Given the description of an element on the screen output the (x, y) to click on. 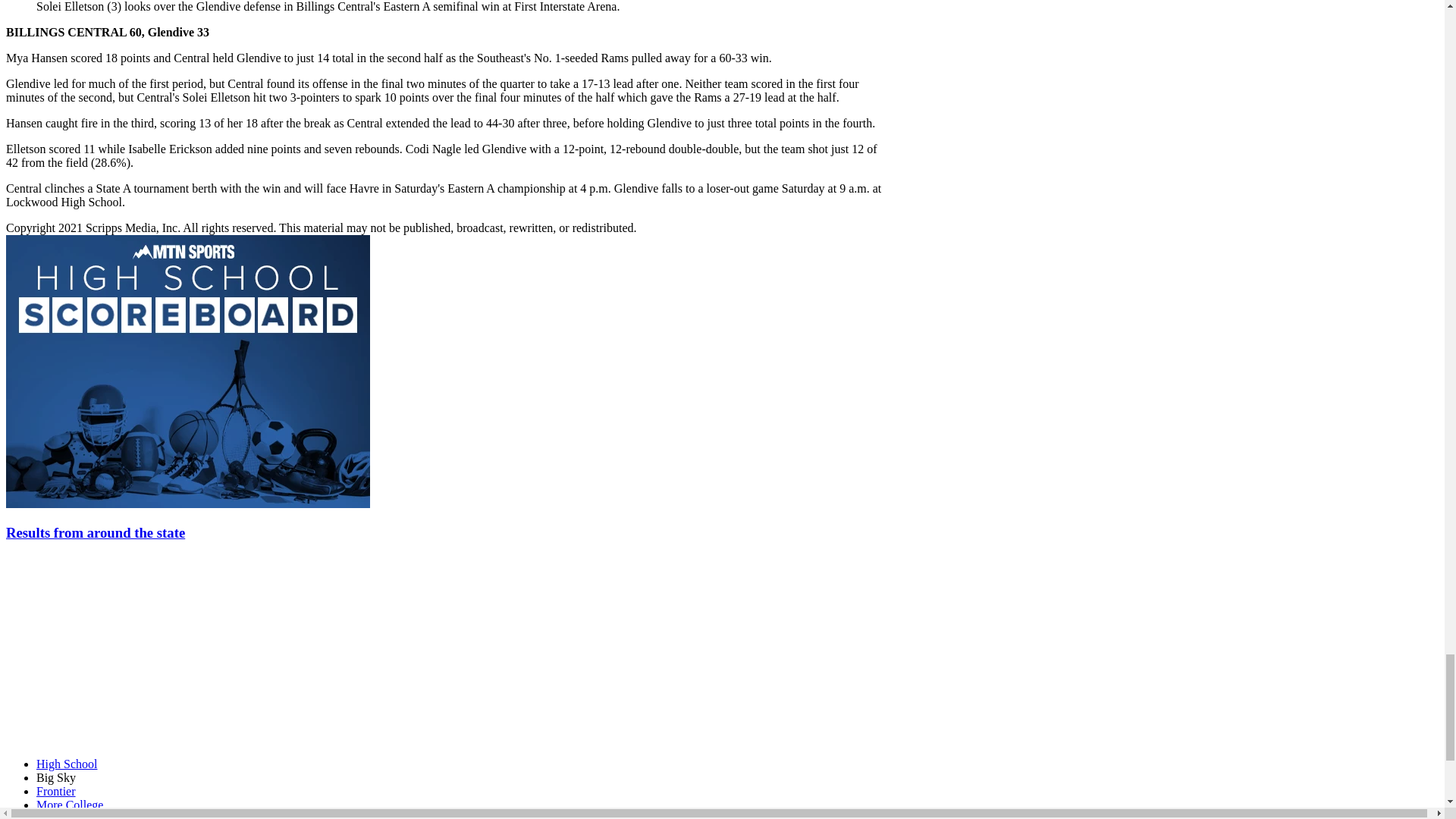
3rd party ad content (118, 650)
